Given the description of an element on the screen output the (x, y) to click on. 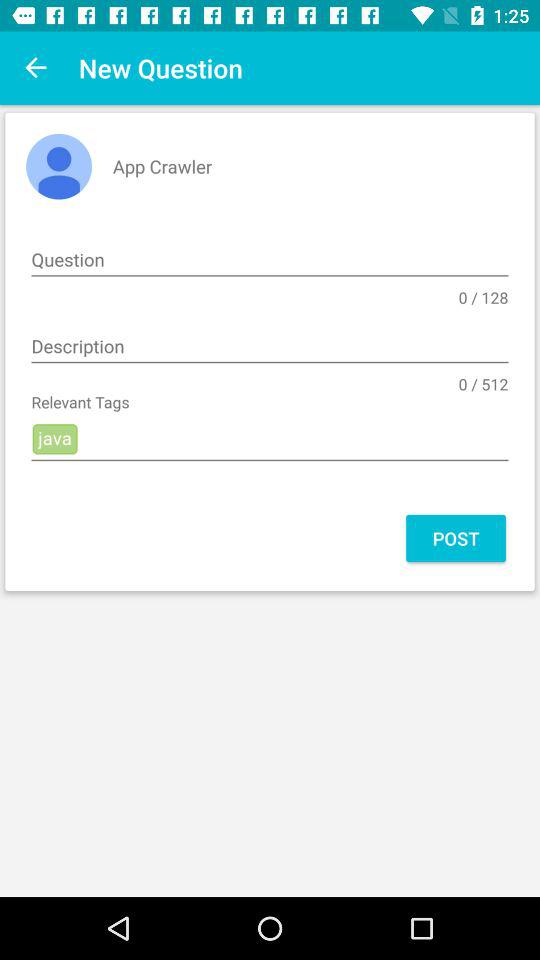
tap the icon next to the new question icon (36, 68)
